Given the description of an element on the screen output the (x, y) to click on. 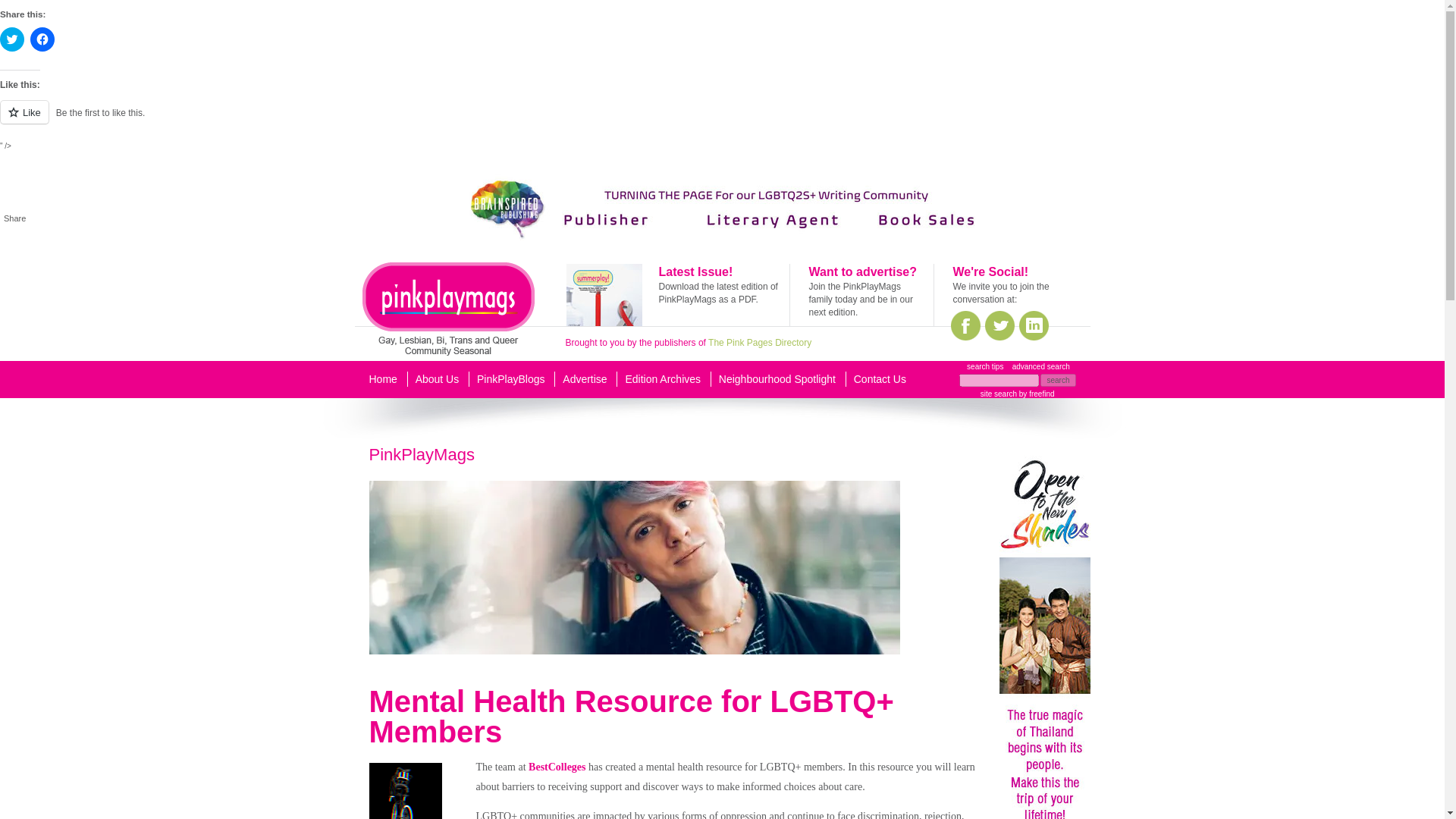
Edition Archives (662, 378)
Click to share on Facebook (42, 39)
site search (997, 393)
by freefind (1035, 393)
The Pink Pages Directory (758, 342)
Click to share on Twitter (12, 39)
Neighbourhood Spotlight (777, 378)
advanced search (1040, 366)
Contact Us (879, 378)
Home (382, 378)
search tips (984, 366)
About Us (437, 378)
BestColleges (556, 767)
Download the latest edition of PinkPlayMags as a PDF. (717, 292)
